Given the description of an element on the screen output the (x, y) to click on. 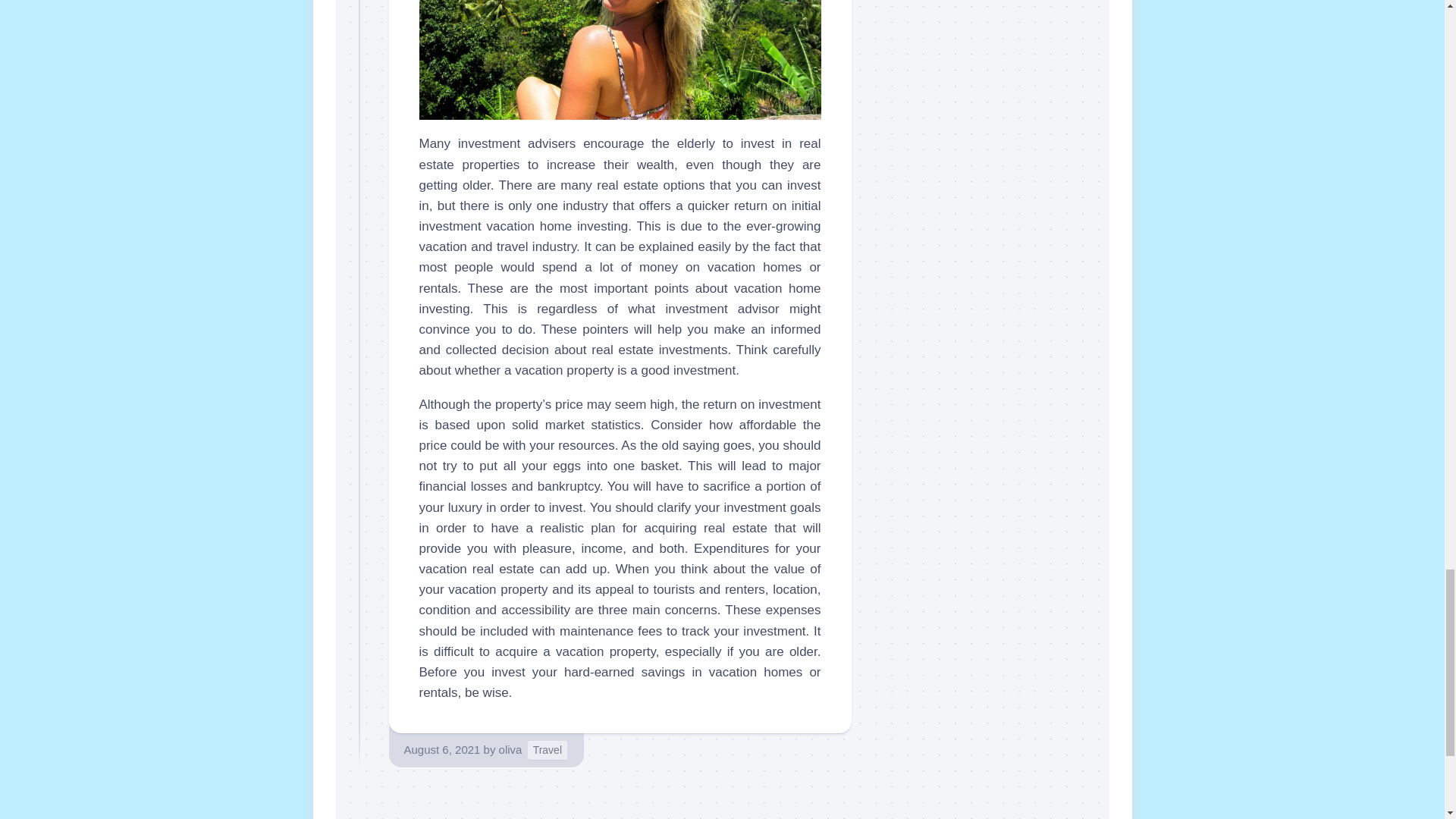
Posts by oliva (510, 748)
Travel (547, 750)
oliva (510, 748)
